Given the description of an element on the screen output the (x, y) to click on. 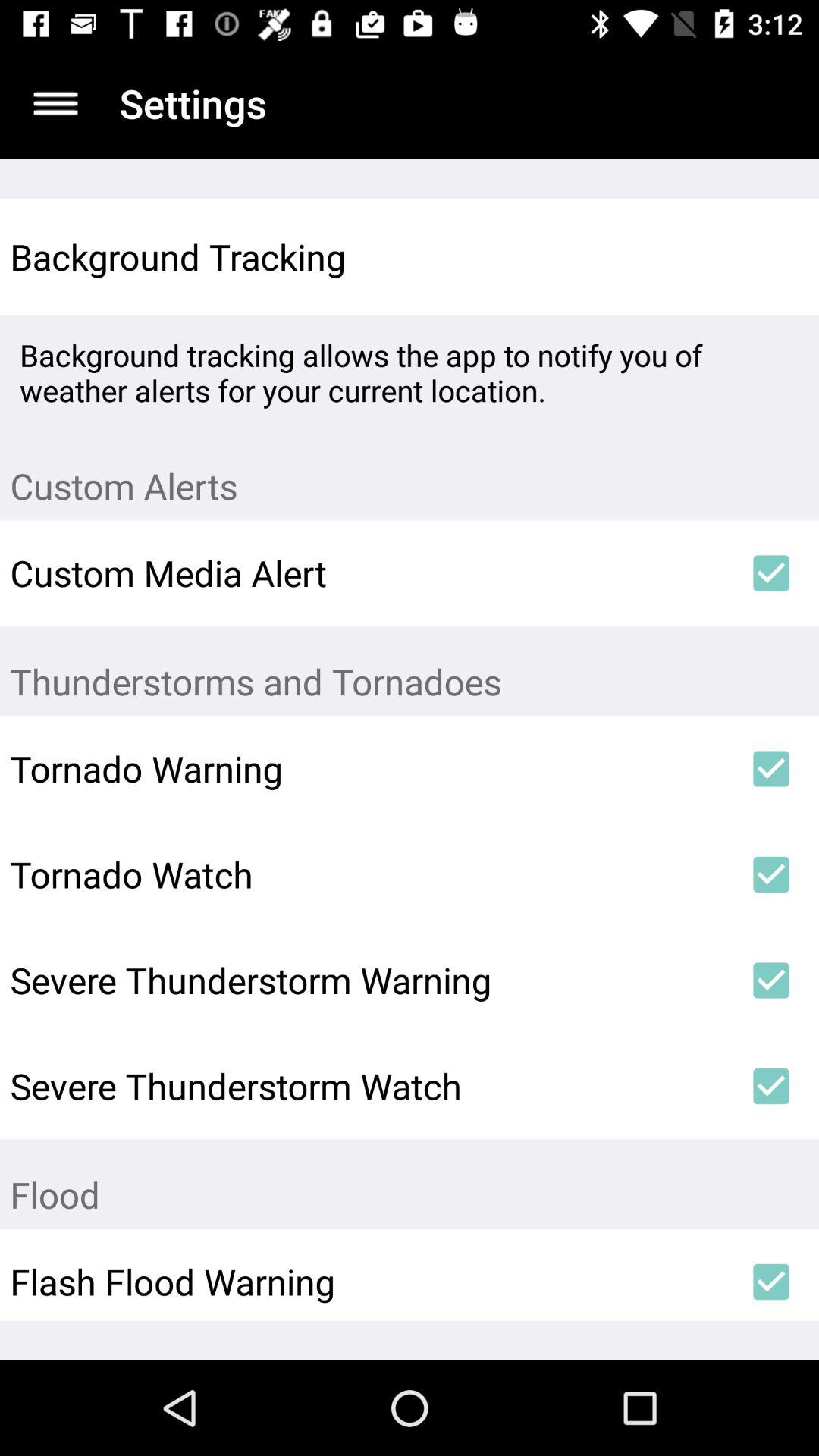
launch icon to the right of flash flood warning item (771, 1281)
